Given the description of an element on the screen output the (x, y) to click on. 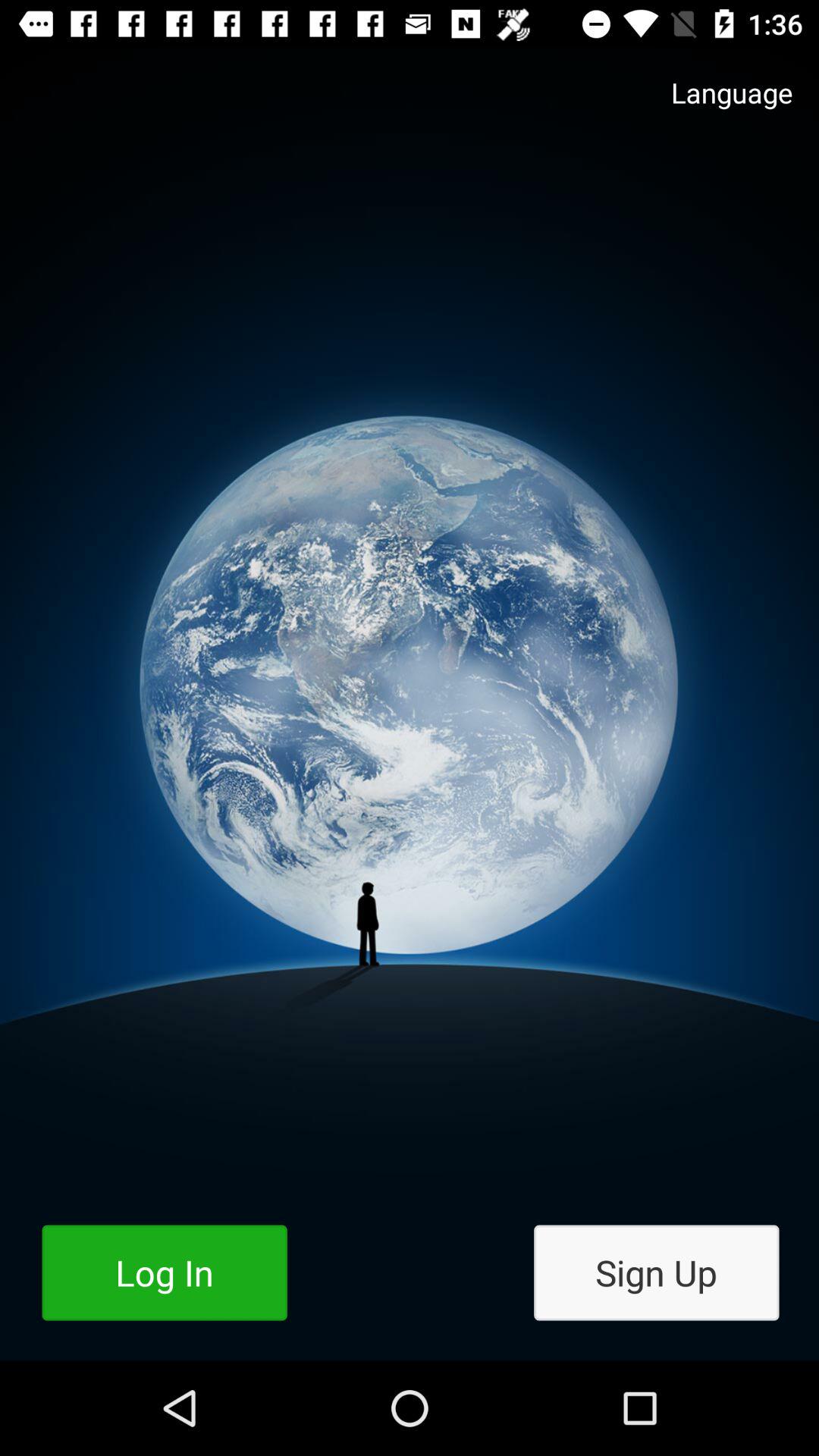
launch the sign up (656, 1272)
